Given the description of an element on the screen output the (x, y) to click on. 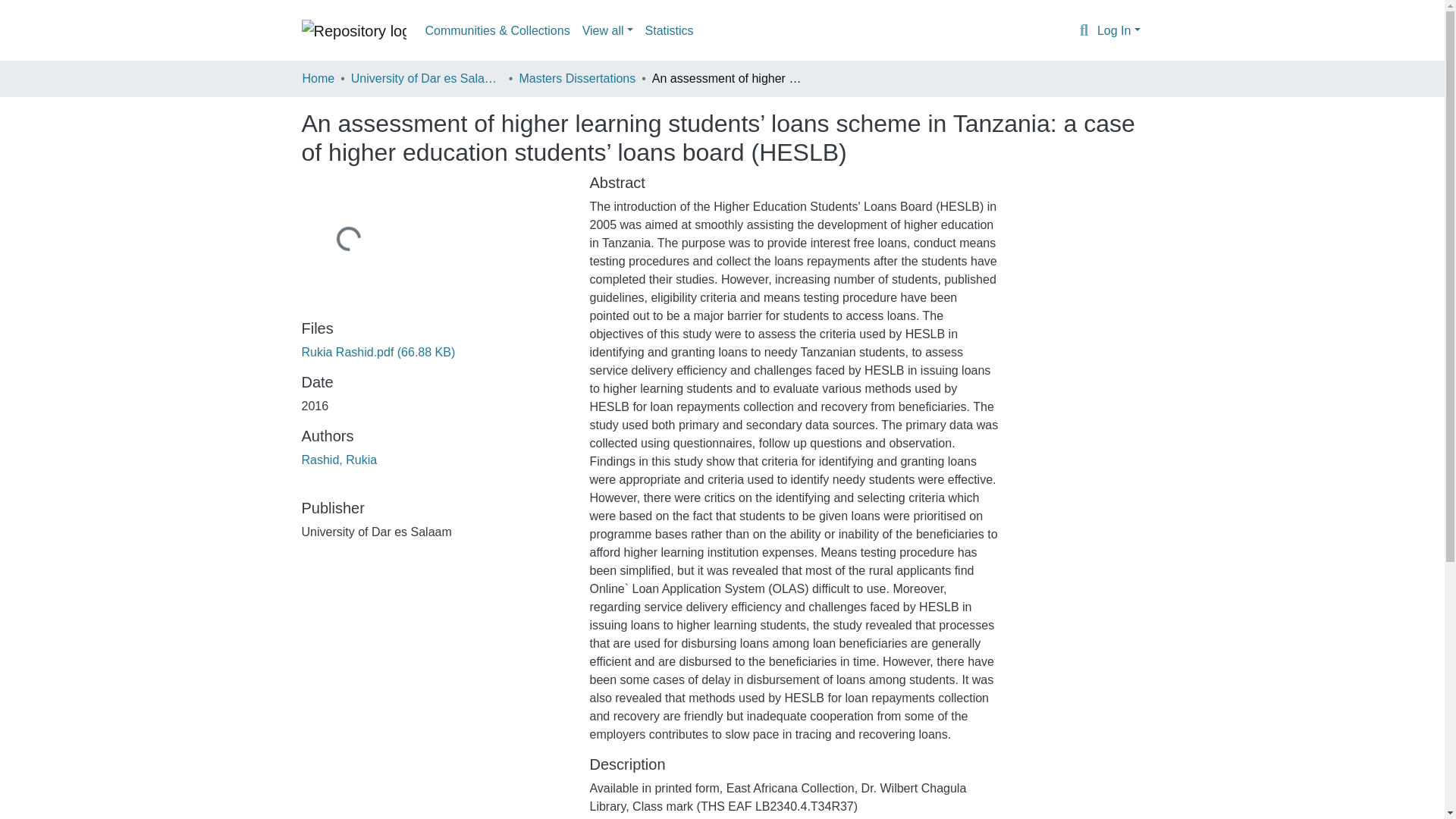
Log In (1118, 30)
University of Dar es Salaam Business School (426, 78)
Search (1084, 30)
Statistics (669, 30)
Masters Dissertations (576, 78)
Home (317, 78)
Statistics (669, 30)
View all (607, 30)
Rashid, Rukia (339, 459)
